Given the description of an element on the screen output the (x, y) to click on. 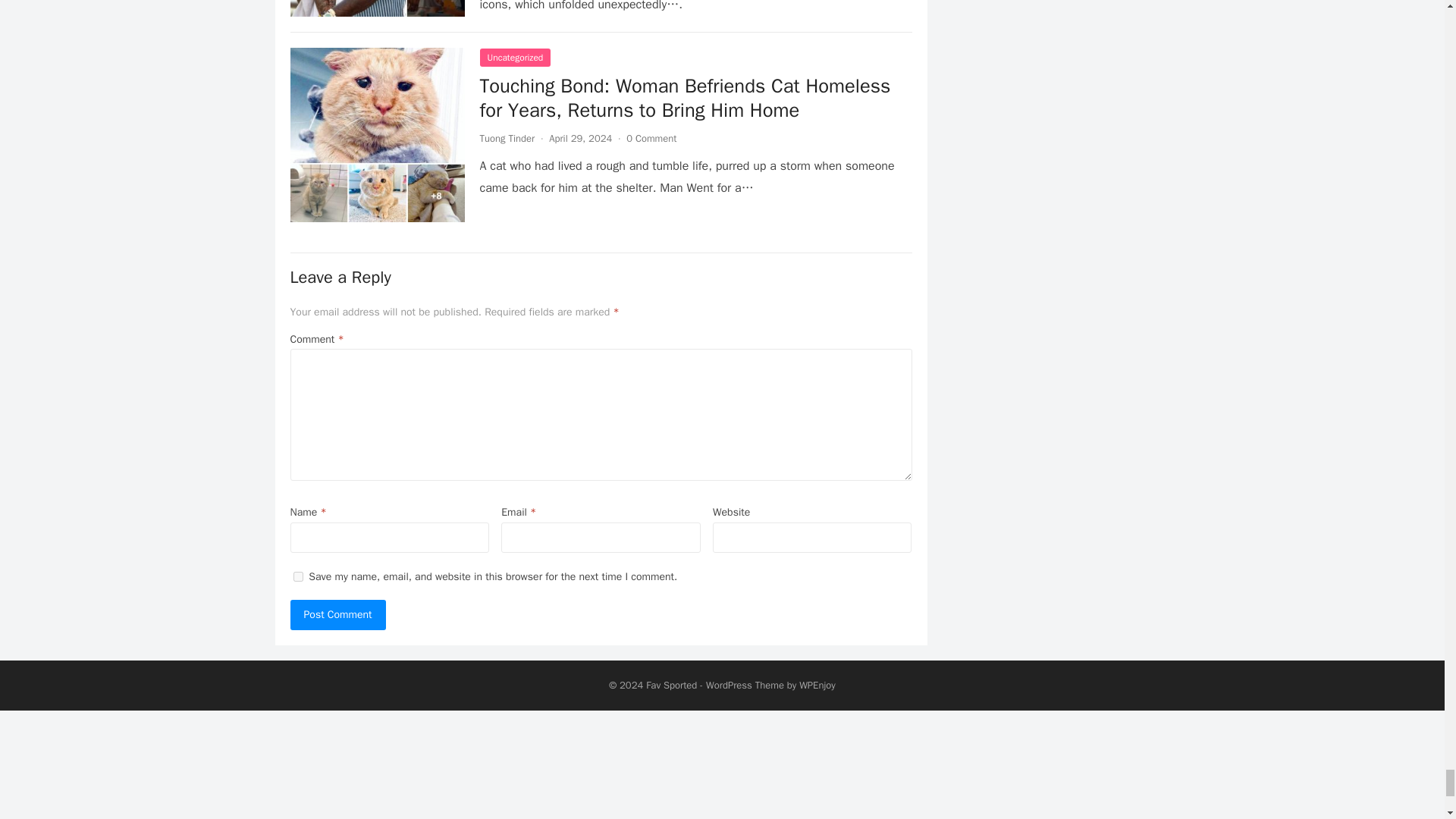
yes (297, 576)
Post Comment (337, 614)
